Given the description of an element on the screen output the (x, y) to click on. 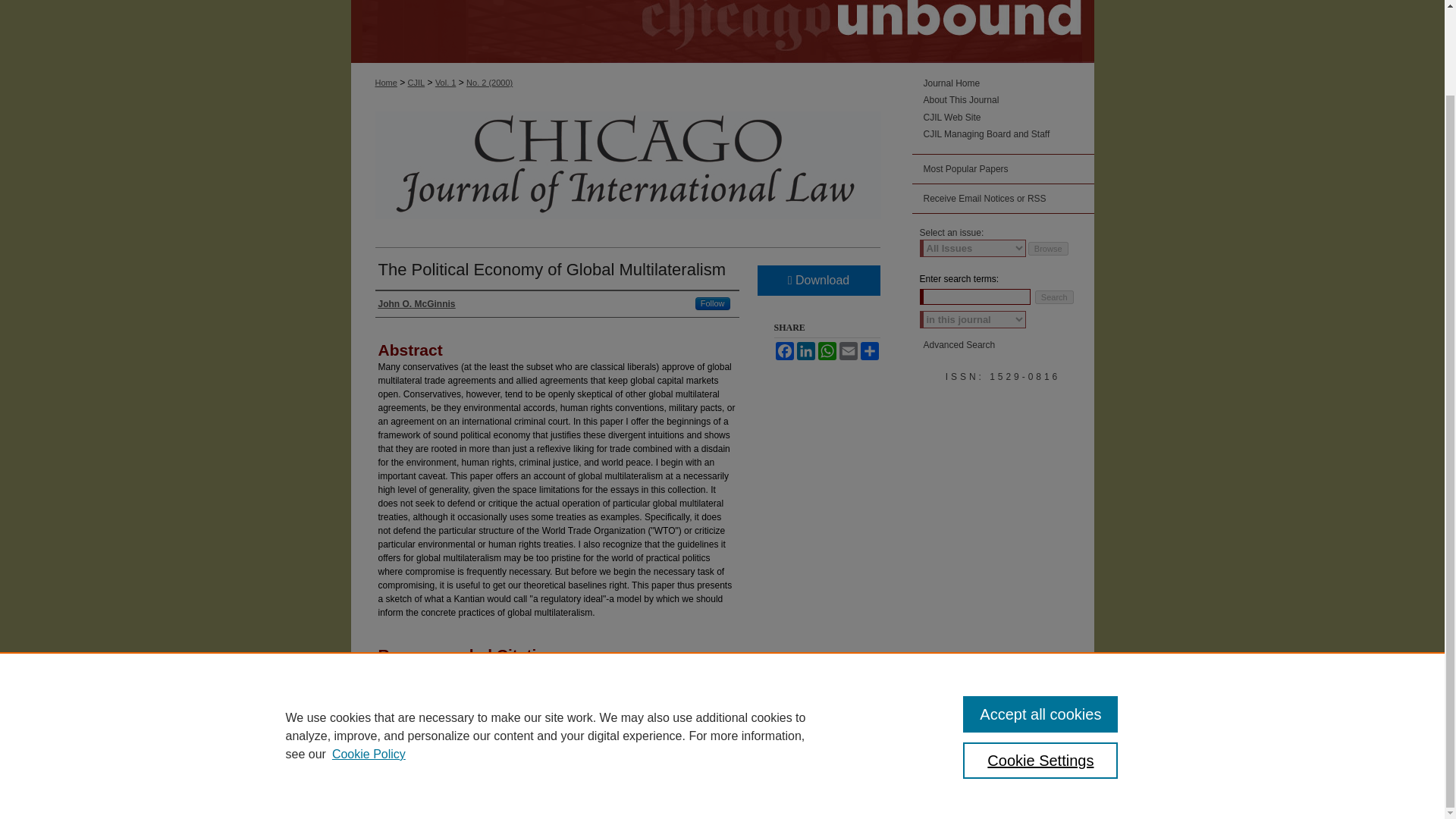
Follow (712, 303)
CJIL (416, 81)
About This Journal (1008, 100)
Search (1054, 296)
Email (848, 351)
Journal Home (1008, 82)
The University of Chicago Law School (440, 781)
Receive Email Notices or RSS (1002, 198)
Most Popular Papers (1002, 169)
Home (385, 81)
CJIL Managing Board and Staff (1008, 133)
About this Journal (1008, 100)
Browse (1047, 248)
Facebook (783, 351)
Chicago Journal of International Law (1008, 82)
